Given the description of an element on the screen output the (x, y) to click on. 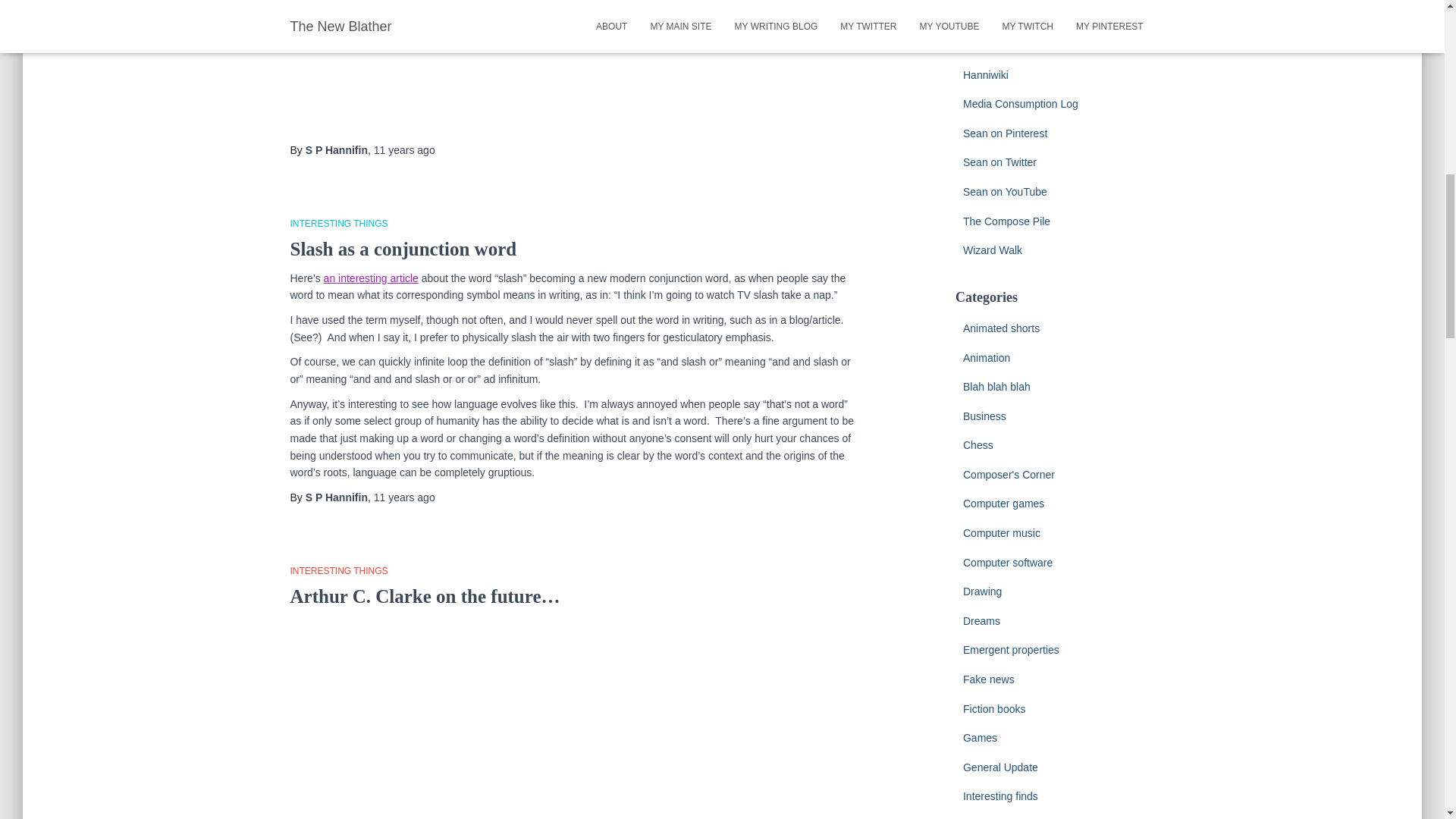
INTERESTING THINGS (338, 223)
an interesting article (371, 277)
S P Hannifin (336, 150)
Catching a Dragon (1006, 15)
INTERESTING THINGS (338, 570)
S P Hannifin (336, 497)
View all posts in Interesting things (338, 223)
11 years ago (404, 150)
S P Hannifin (336, 497)
11 years ago (404, 497)
